Given the description of an element on the screen output the (x, y) to click on. 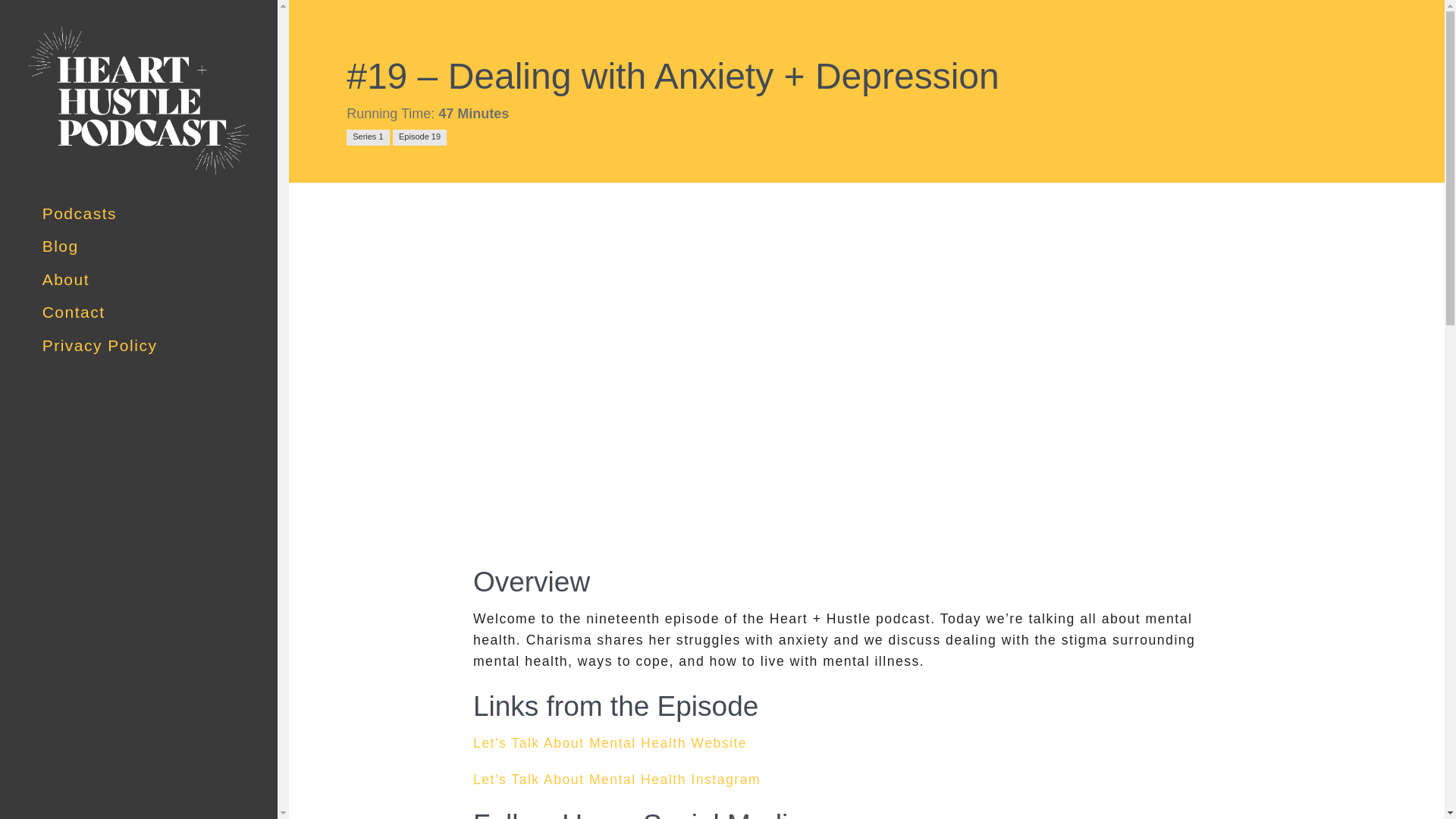
Blog (60, 245)
About (65, 279)
Podcasts (79, 212)
Contact (73, 312)
Privacy Policy (99, 344)
